Given the description of an element on the screen output the (x, y) to click on. 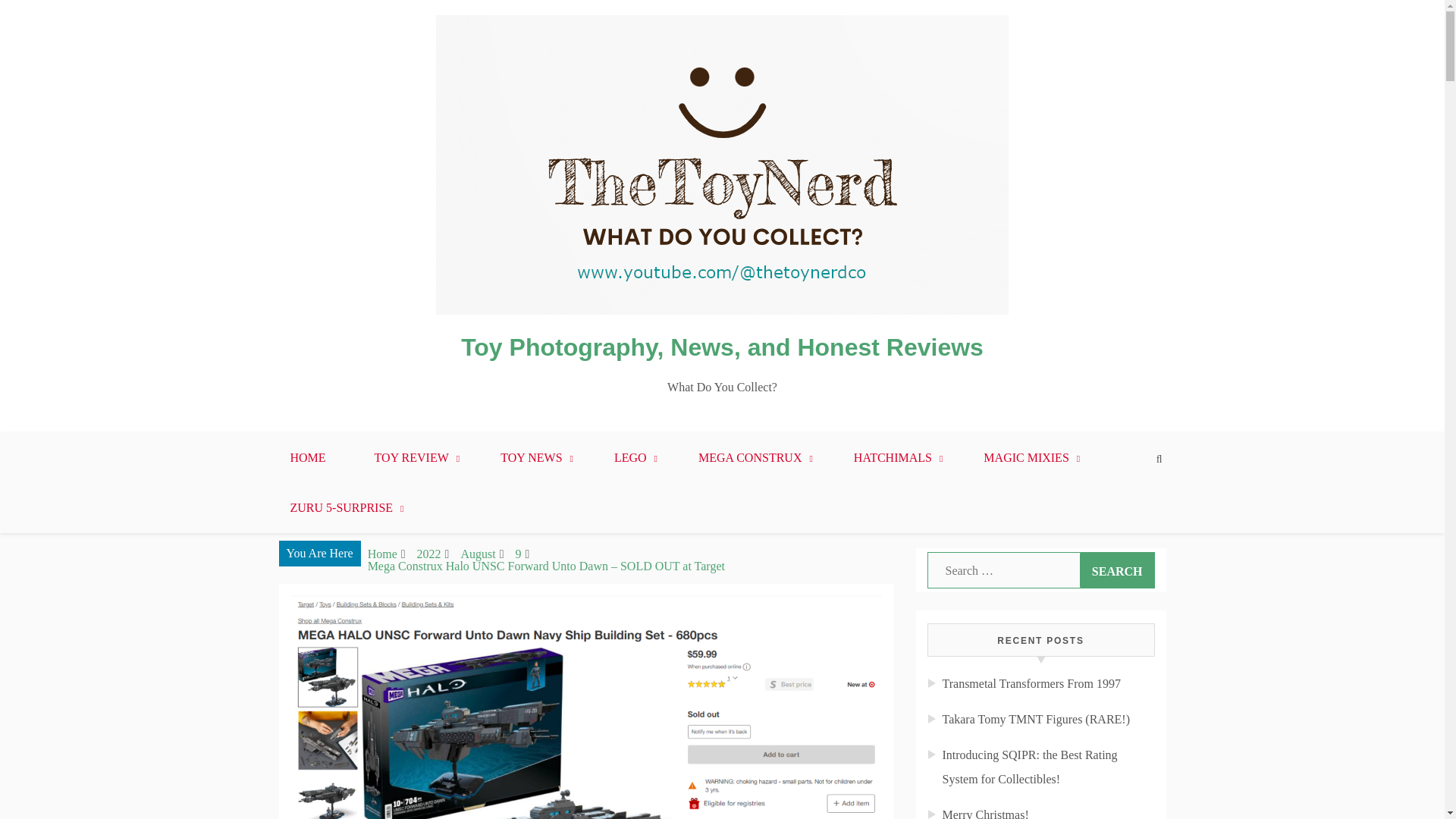
MEGA CONSTRUX (751, 458)
TOY REVIEW (414, 458)
LEGO (631, 458)
Search (1117, 570)
TOY NEWS (532, 458)
Search (1117, 570)
Toy Photography, News, and Honest Reviews (722, 347)
HOME (306, 458)
